Given the description of an element on the screen output the (x, y) to click on. 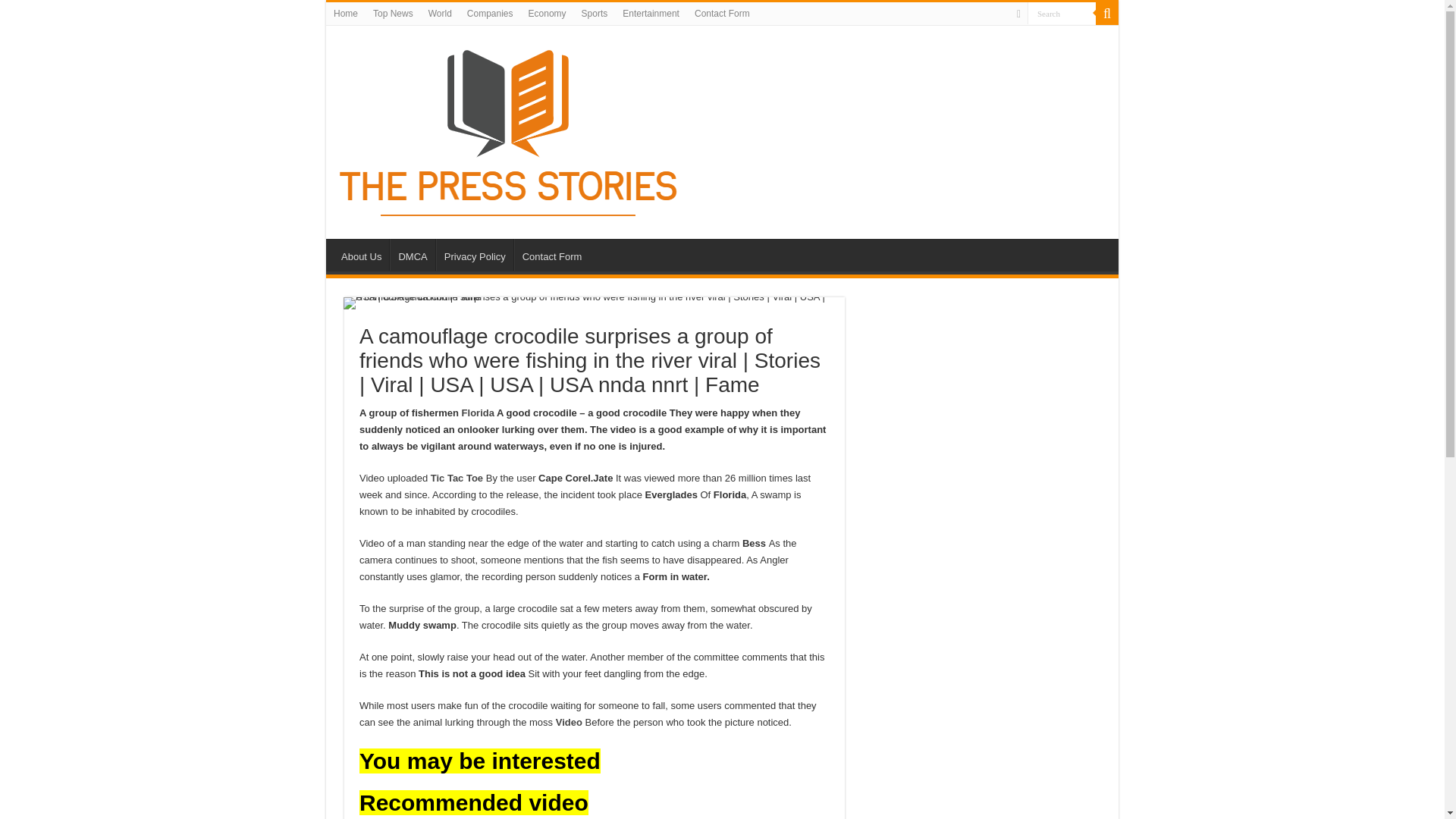
Contact Form (551, 255)
Florida (478, 412)
Search (1061, 13)
Top News (392, 13)
Search (1061, 13)
Entertainment (650, 13)
Tic Tac Toe (456, 478)
Home (345, 13)
DMCA (411, 255)
About Us (360, 255)
